Given the description of an element on the screen output the (x, y) to click on. 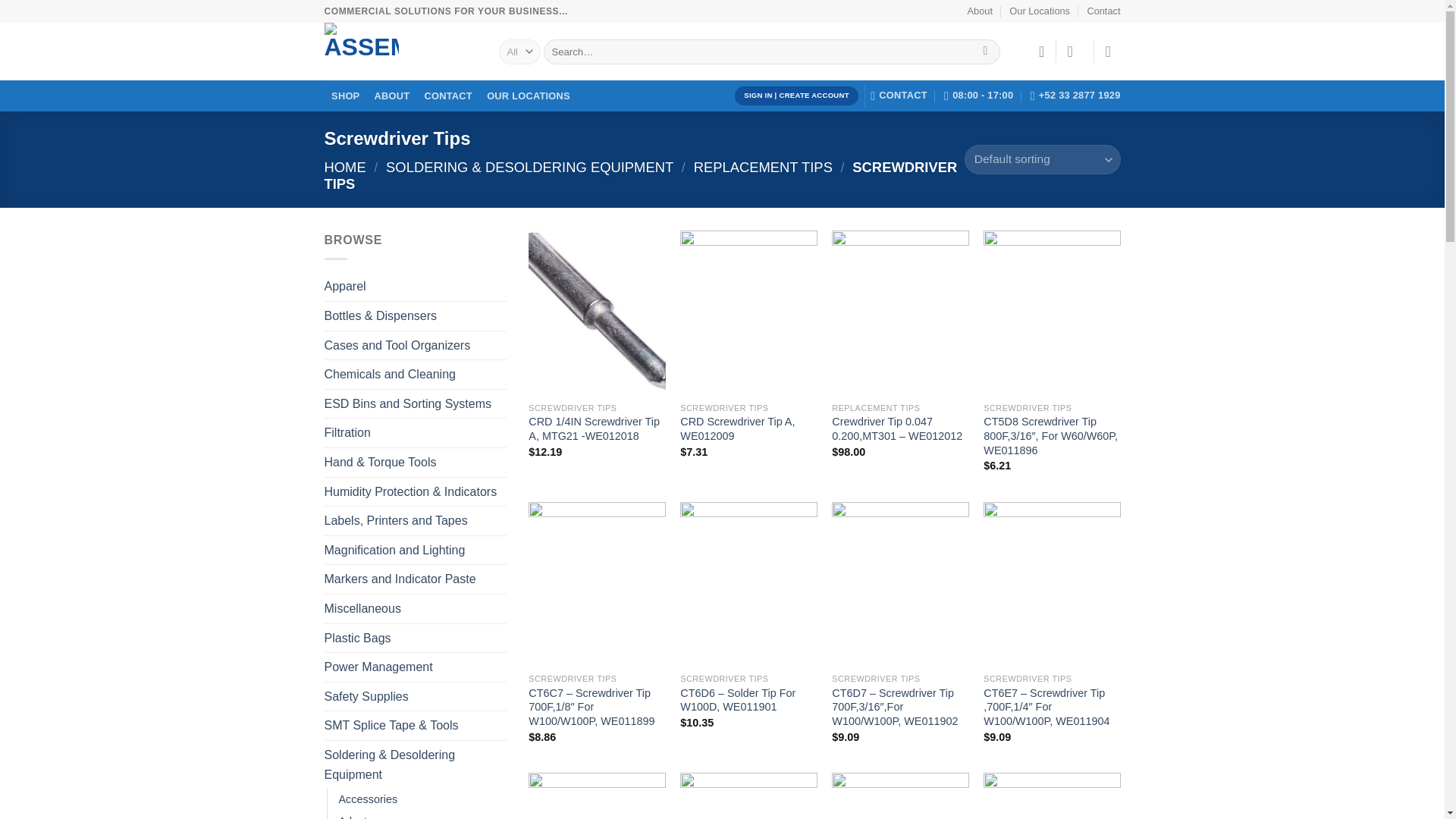
Search (984, 52)
CONTACT (448, 96)
HOME (345, 166)
AssemblyPro - AssemblyPro eCommerce (400, 51)
REPLACEMENT TIPS (763, 166)
CONTACT (898, 95)
SHOP (345, 96)
OUR LOCATIONS (529, 96)
08:00 - 17:00  (978, 95)
About (980, 11)
